Given the description of an element on the screen output the (x, y) to click on. 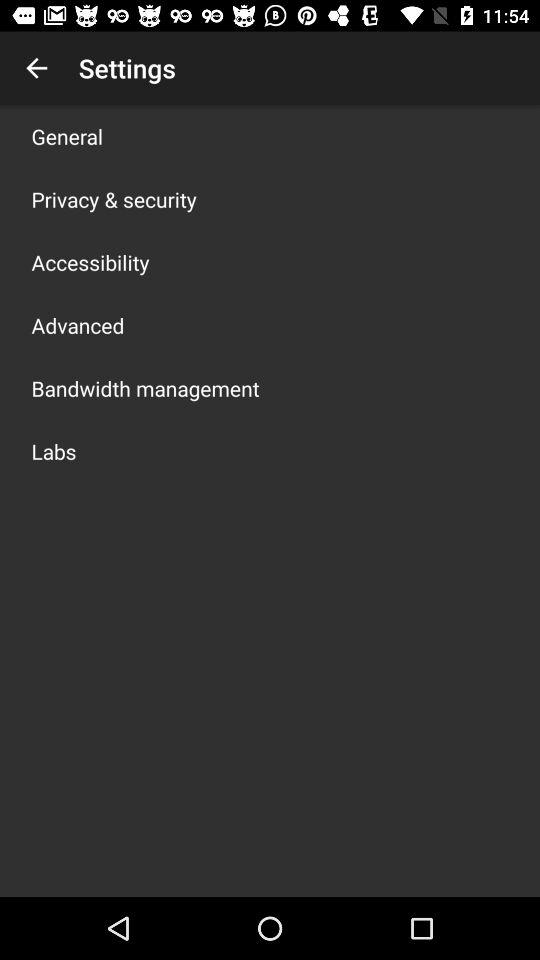
open item below the advanced app (145, 388)
